Given the description of an element on the screen output the (x, y) to click on. 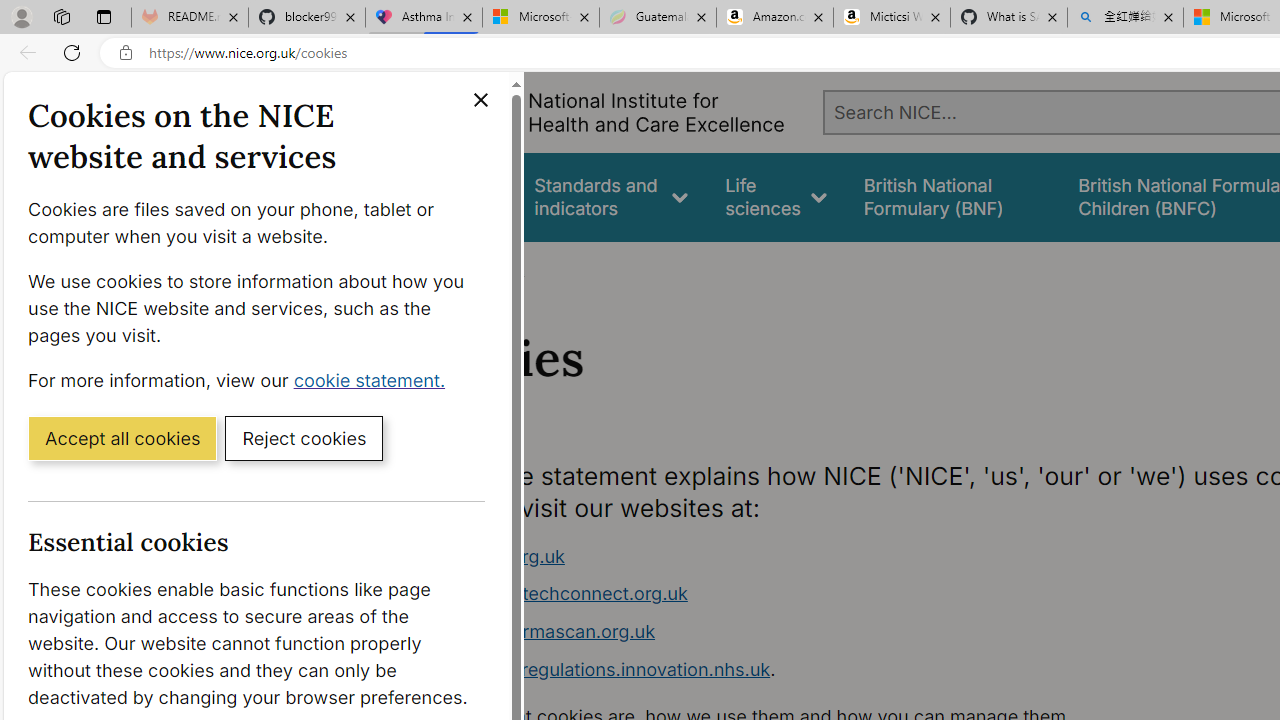
Life sciences (776, 196)
Accept all cookies (122, 437)
www.ukpharmascan.org.uk (538, 631)
false (952, 196)
www.nice.org.uk (492, 556)
www.healthtechconnect.org.uk (796, 594)
Guidance (458, 196)
